Given the description of an element on the screen output the (x, y) to click on. 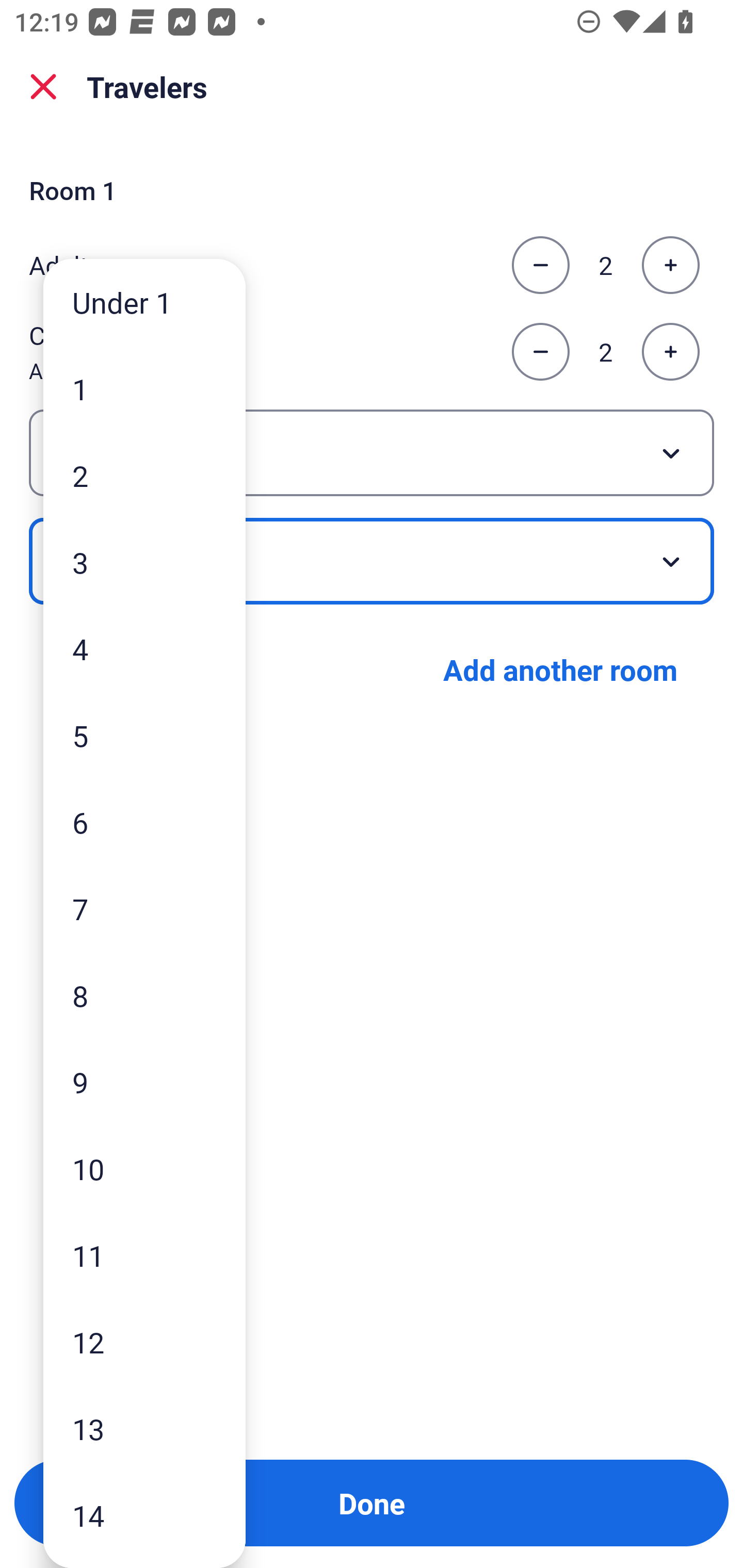
Under 1 (144, 301)
1 (144, 388)
2 (144, 475)
3 (144, 562)
4 (144, 648)
5 (144, 735)
6 (144, 822)
7 (144, 908)
8 (144, 994)
9 (144, 1081)
10 (144, 1168)
11 (144, 1255)
12 (144, 1342)
13 (144, 1429)
14 (144, 1515)
